Given the description of an element on the screen output the (x, y) to click on. 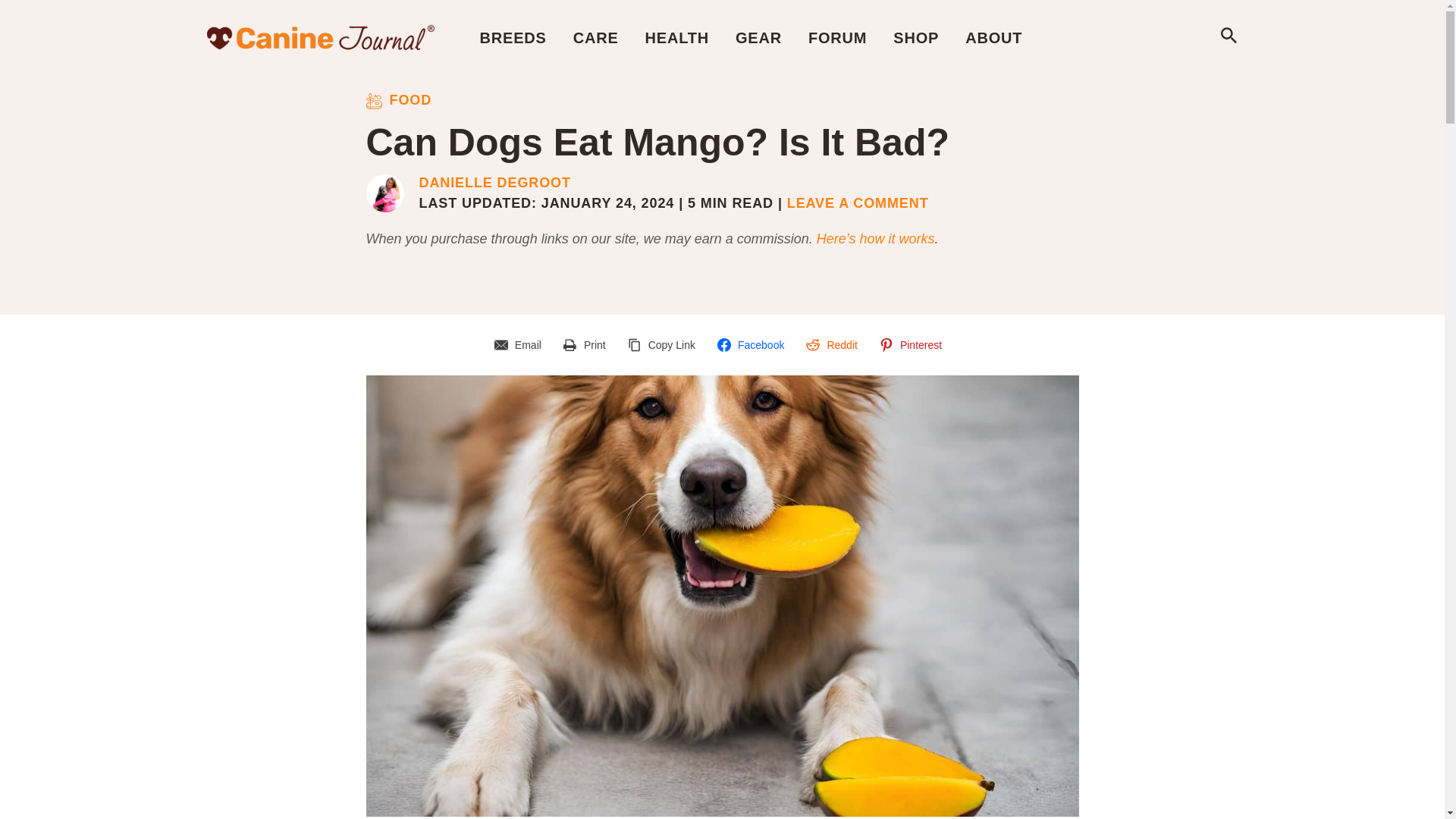
Share on Email (520, 344)
Posts by Danielle DeGroot (494, 183)
ABOUT (993, 37)
Share on Copy Link (663, 344)
Share on Pinterest (912, 344)
Share on Reddit (833, 344)
Share on Facebook (752, 344)
BREEDS (512, 37)
FORUM (837, 37)
HEALTH (677, 37)
